Given the description of an element on the screen output the (x, y) to click on. 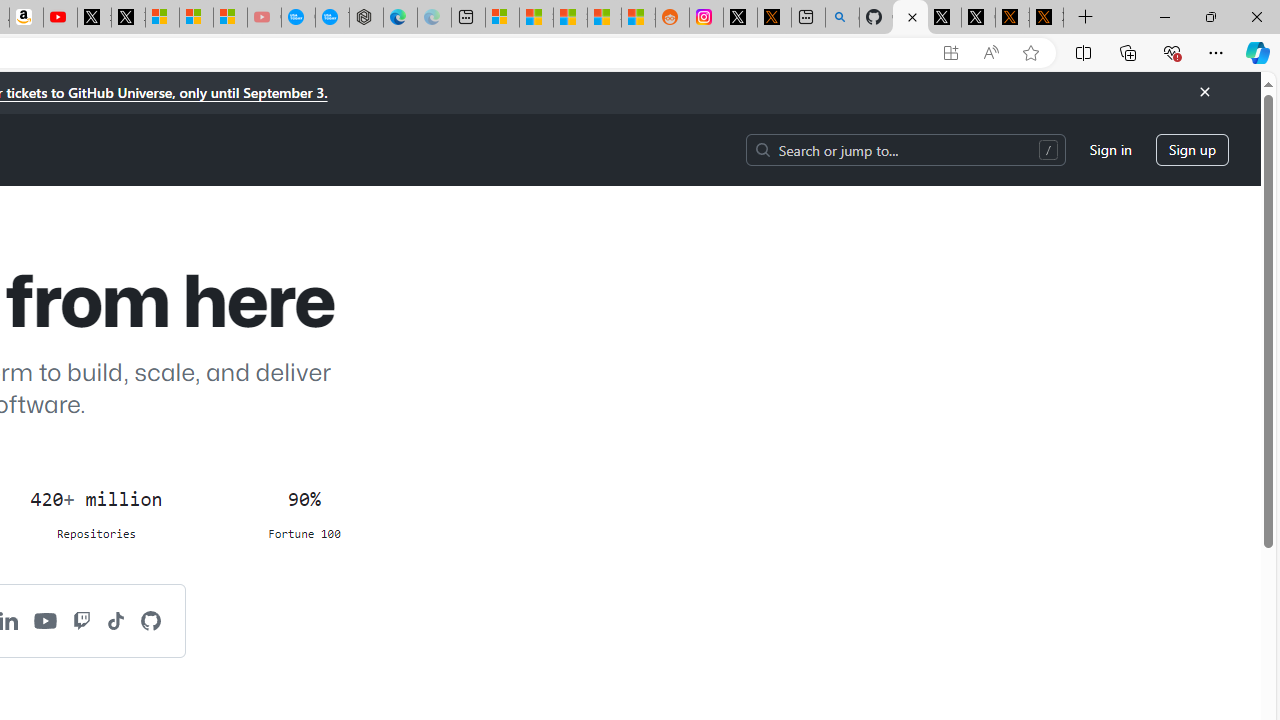
GitHub on Twitch (82, 620)
Sign in (1110, 149)
Gloom - YouTube - Sleeping (264, 17)
Shanghai, China hourly forecast | Microsoft Weather (570, 17)
